Given the description of an element on the screen output the (x, y) to click on. 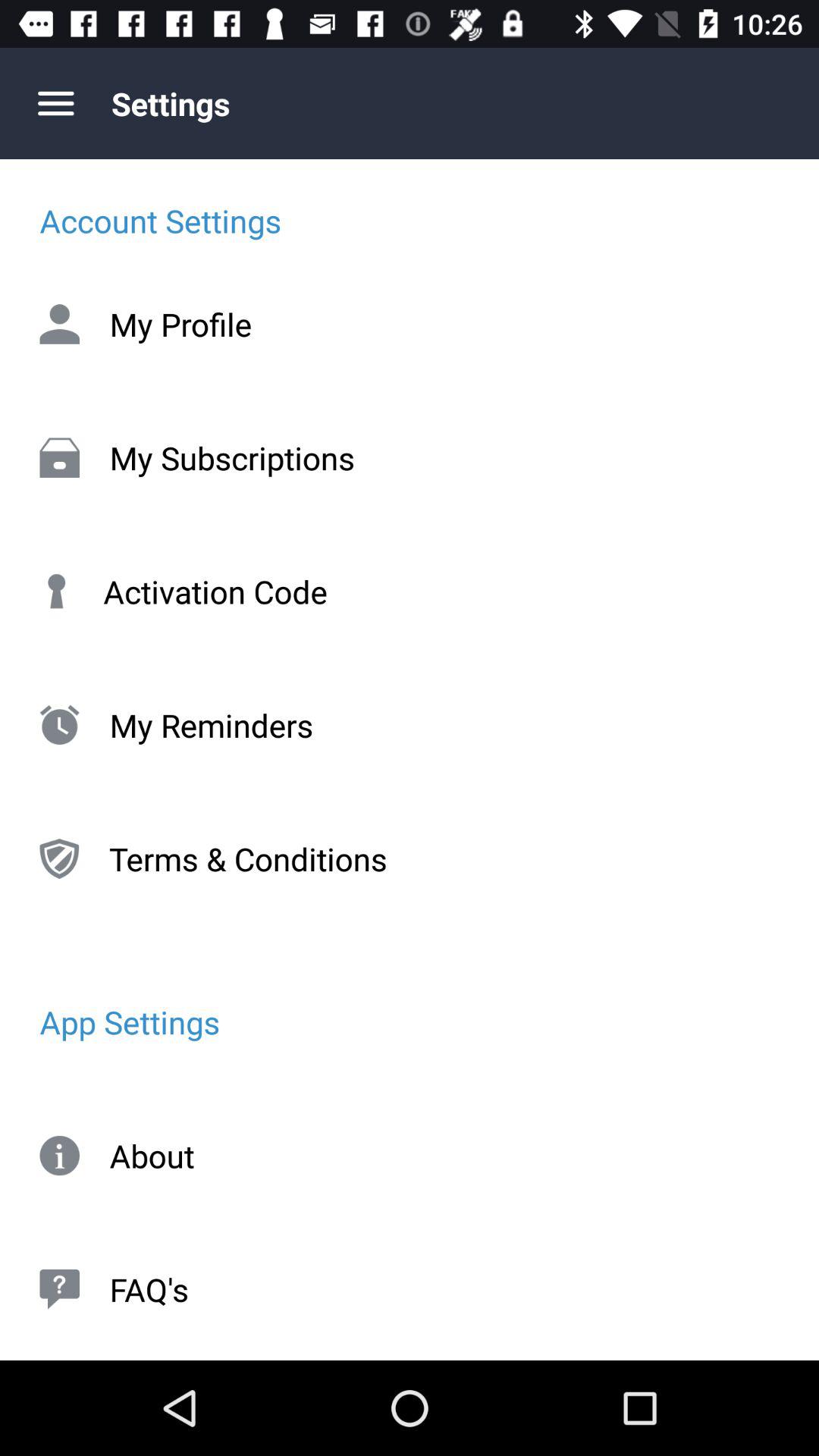
jump to the activation code icon (409, 591)
